Given the description of an element on the screen output the (x, y) to click on. 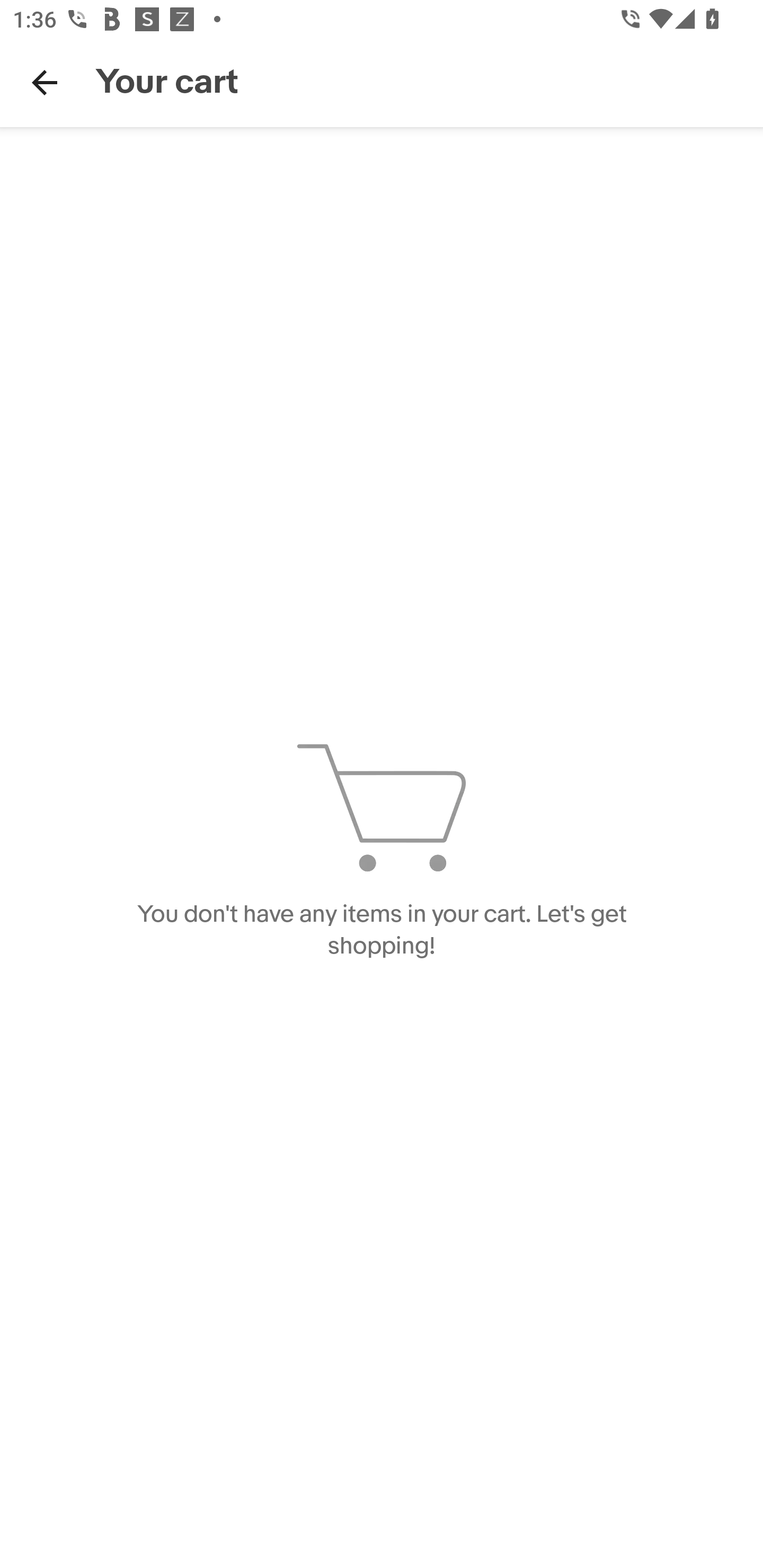
Navigate up (44, 82)
